Given the description of an element on the screen output the (x, y) to click on. 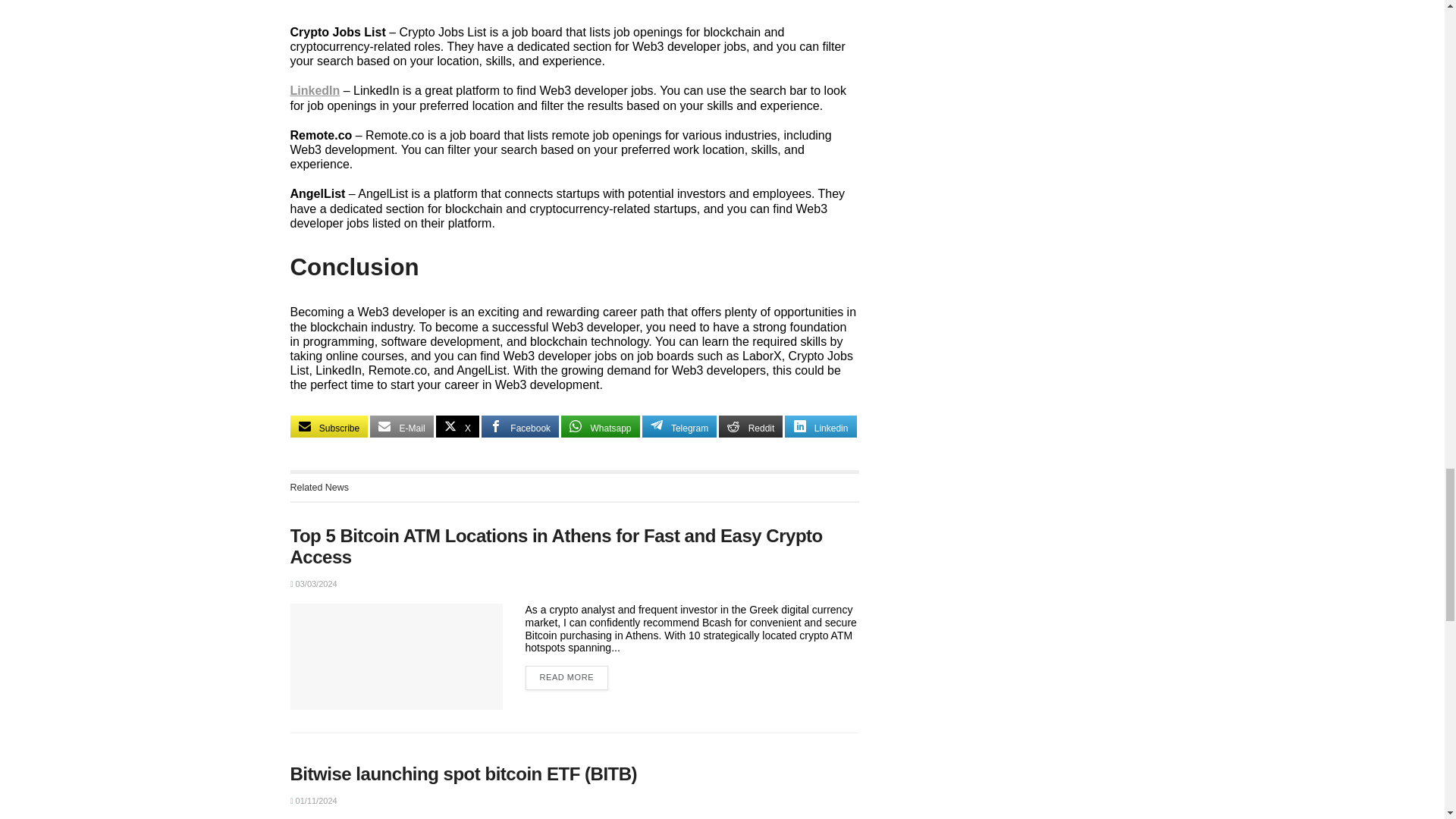
Telegram (679, 426)
Subscribe (328, 426)
Facebook (520, 426)
X (457, 426)
E-Mail (400, 426)
Whatsapp (599, 426)
LinkedIn (314, 90)
